Given the description of an element on the screen output the (x, y) to click on. 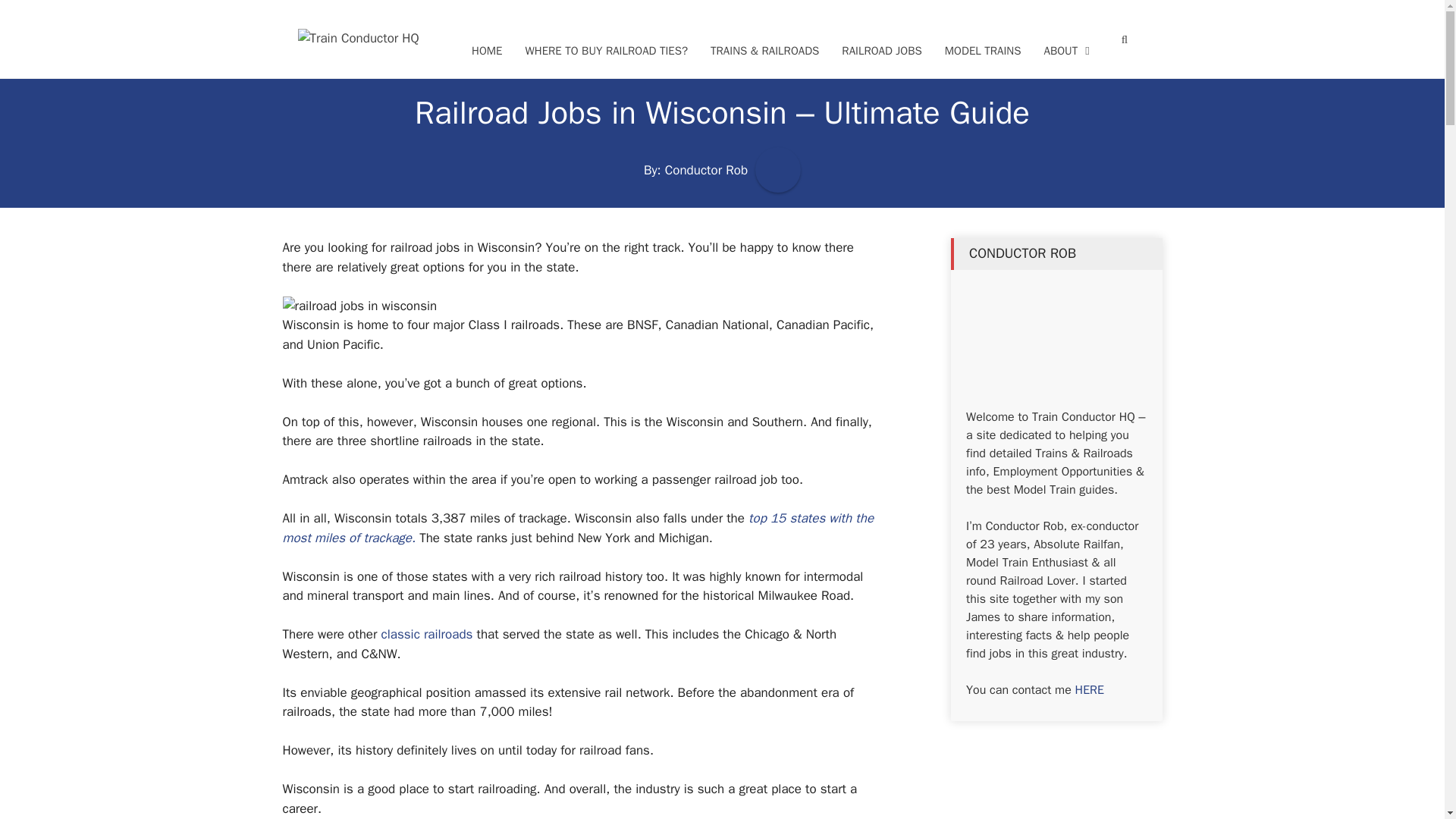
MODEL TRAINS (982, 50)
top 15 states with the most miles of trackage. (577, 528)
ABOUT (1067, 50)
classic railroads (427, 634)
RAILROAD JOBS (881, 50)
WHERE TO BUY RAILROAD TIES? (605, 50)
